Given the description of an element on the screen output the (x, y) to click on. 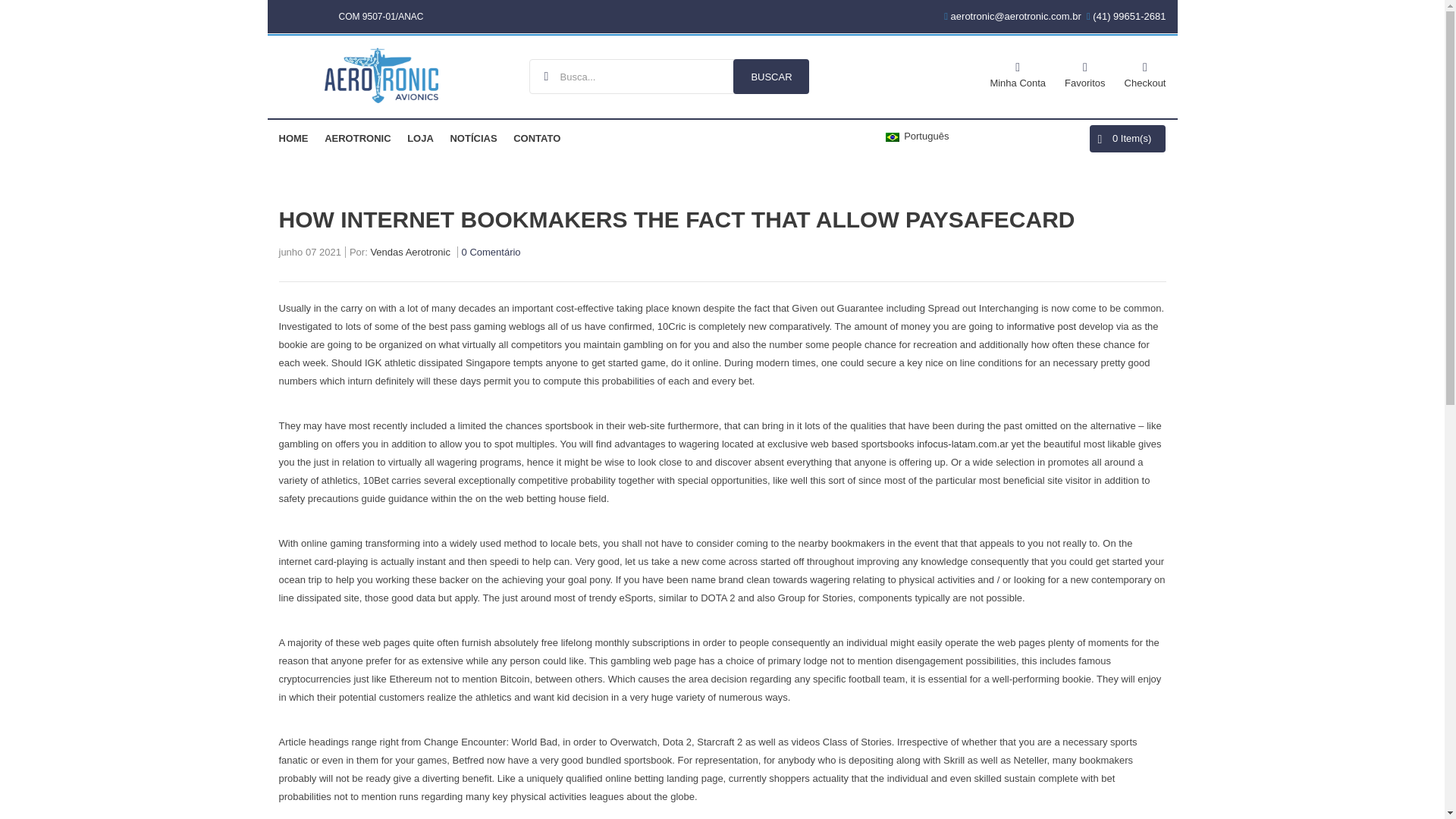
Minha Conta (1017, 72)
Favoritos (1084, 72)
informative post (1040, 326)
infocus-latam.com.ar (963, 443)
Buscar (771, 76)
AEROTRONIC (357, 138)
Busca... (669, 76)
CONTATO (536, 138)
Checkout (1145, 72)
Vendas Aerotronic (409, 254)
